Given the description of an element on the screen output the (x, y) to click on. 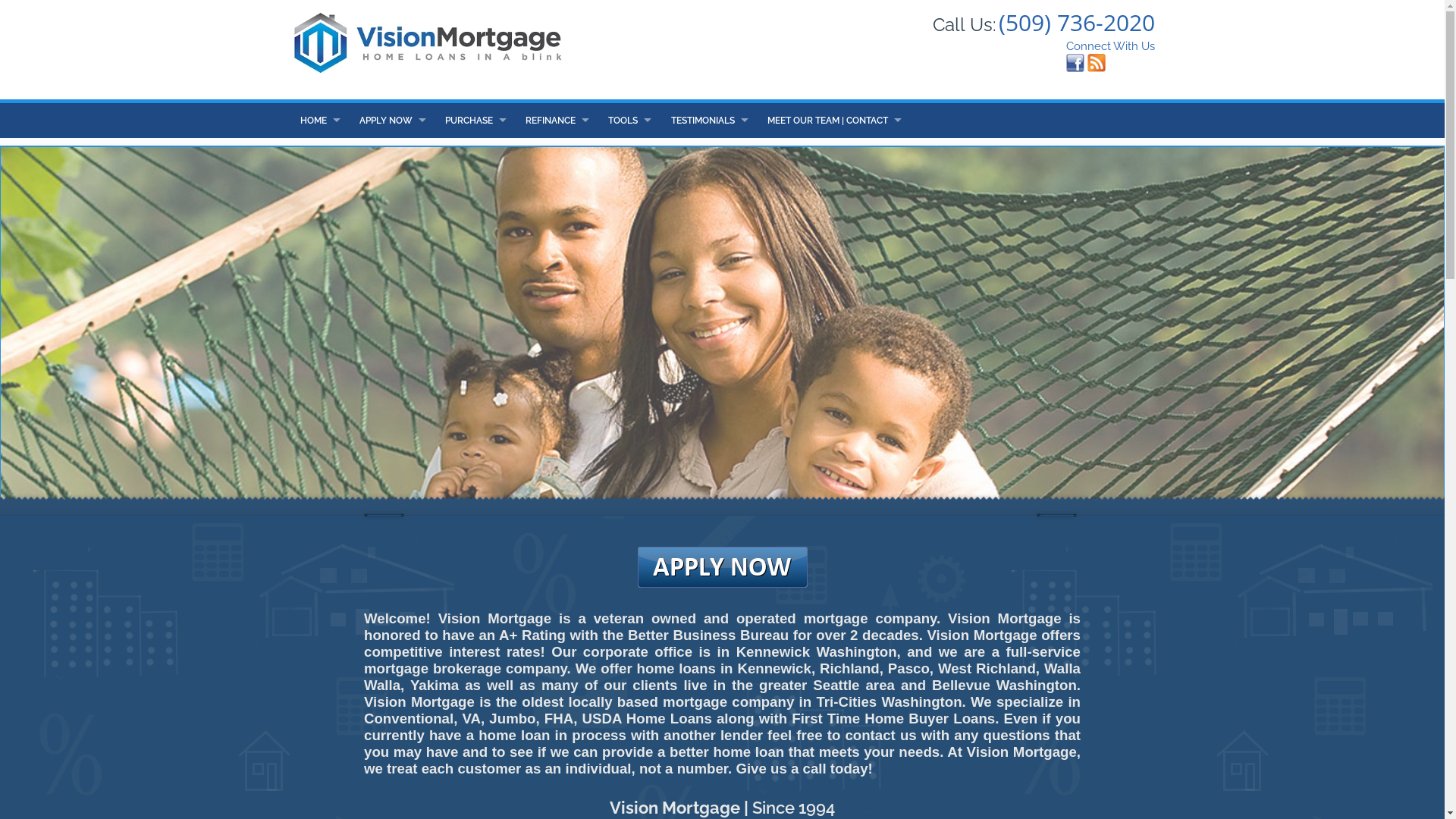
MEET OUR TEAM | CONTACT Element type: text (833, 120)
REFINANCE Element type: text (556, 120)
TESTIMONIALS Element type: text (708, 120)
PURCHASE Element type: text (475, 120)
Facebook Element type: hover (1075, 62)
HOME Element type: text (318, 120)
APPLY NOW Element type: text (392, 120)
Blog Element type: hover (1096, 62)
TOOLS Element type: text (629, 120)
(509) 736-2020 Element type: text (1075, 21)
